Given the description of an element on the screen output the (x, y) to click on. 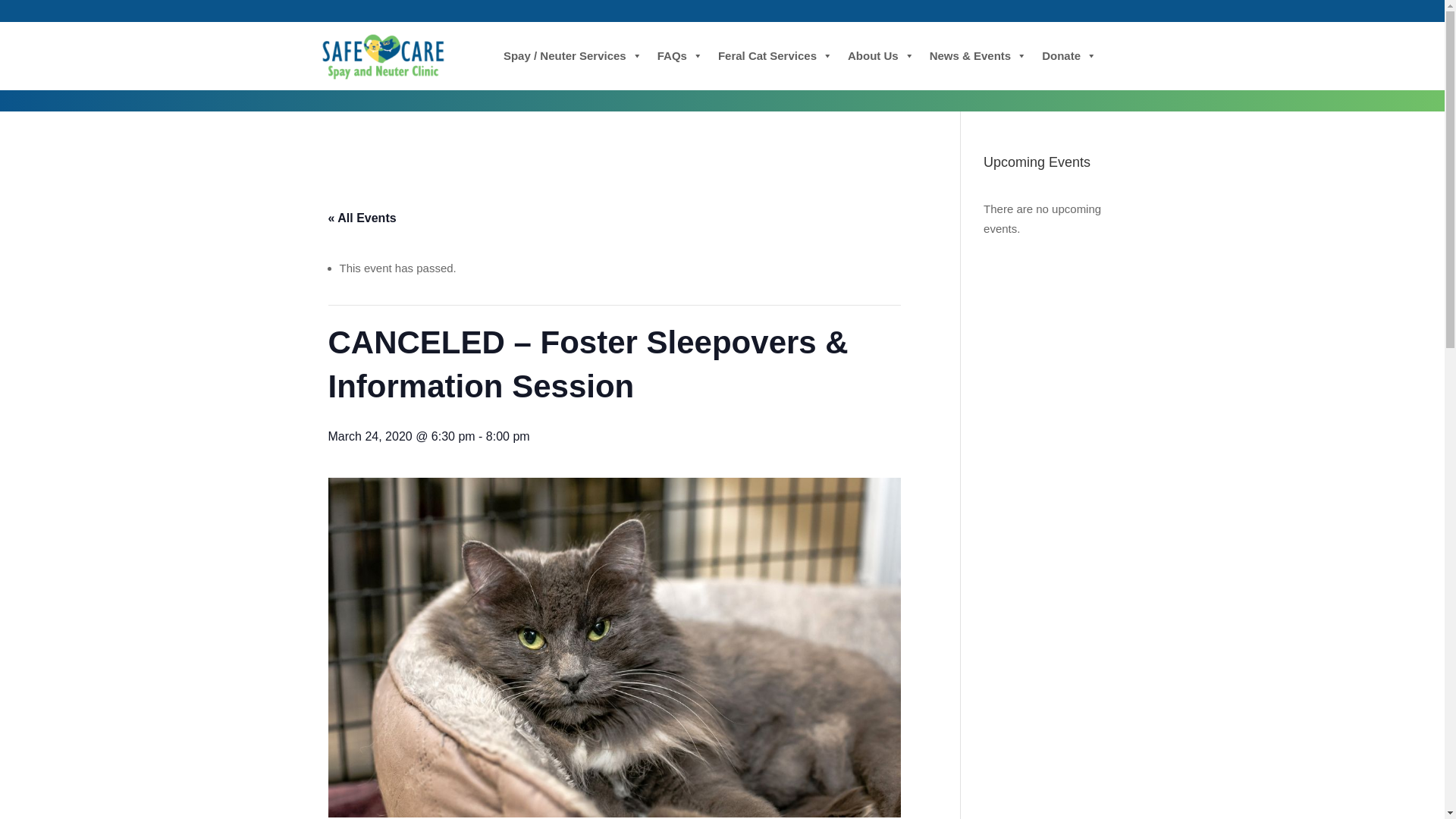
Donate (1068, 56)
About Us (880, 56)
Feral Cat Services (775, 56)
